Given the description of an element on the screen output the (x, y) to click on. 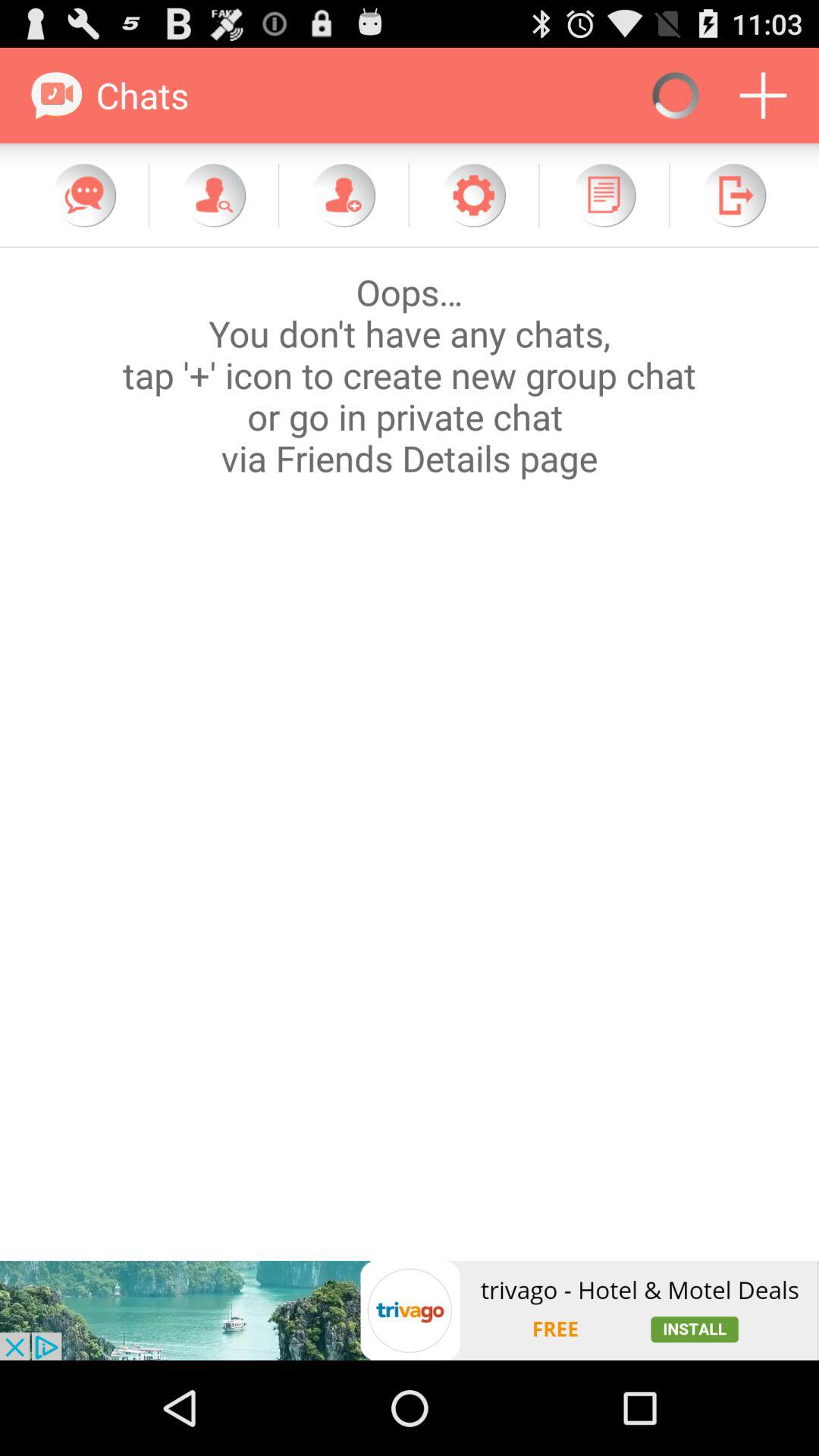
select icon at the bottom (409, 1310)
